Given the description of an element on the screen output the (x, y) to click on. 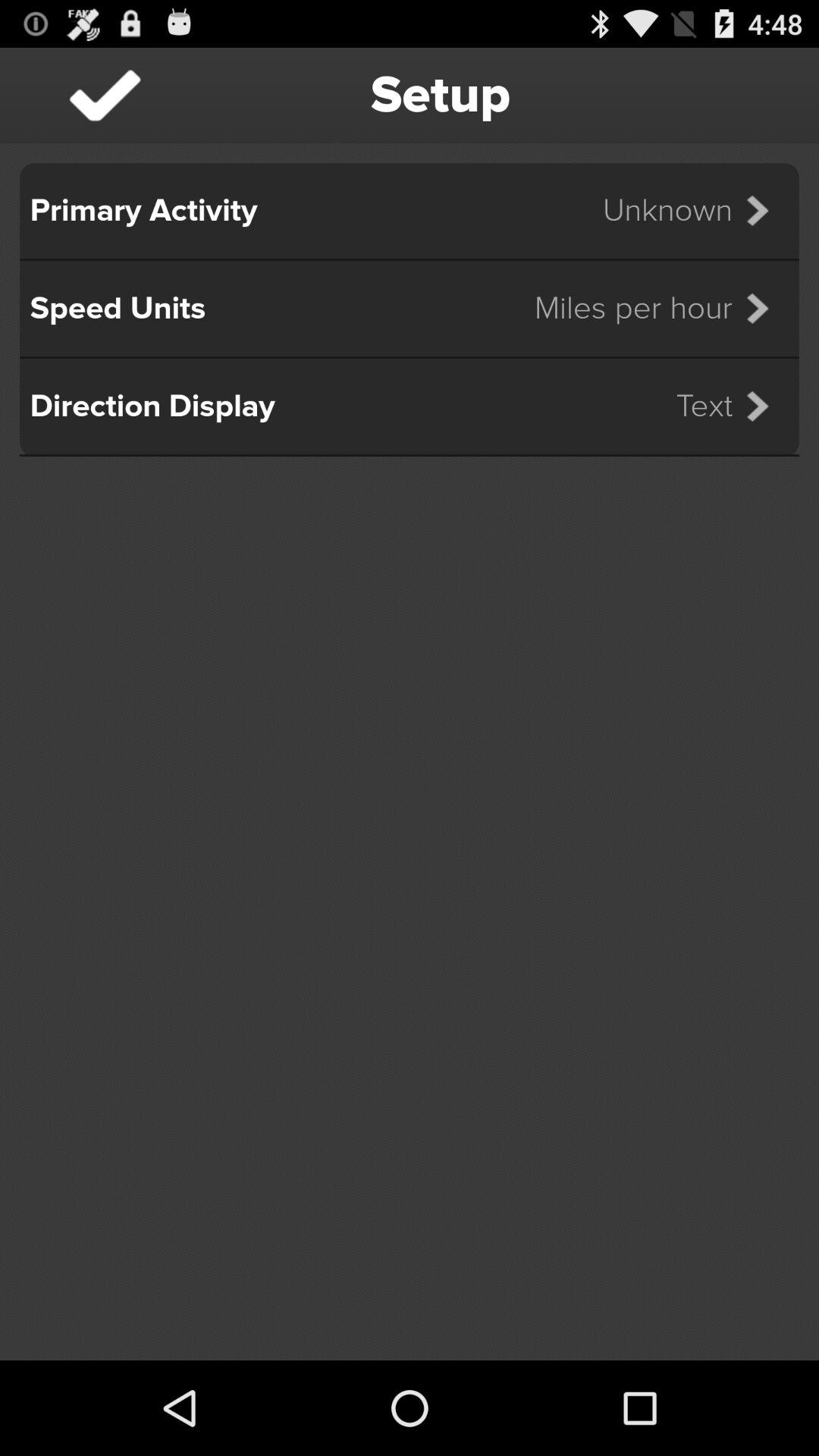
turn off the icon below setup item (695, 210)
